Given the description of an element on the screen output the (x, y) to click on. 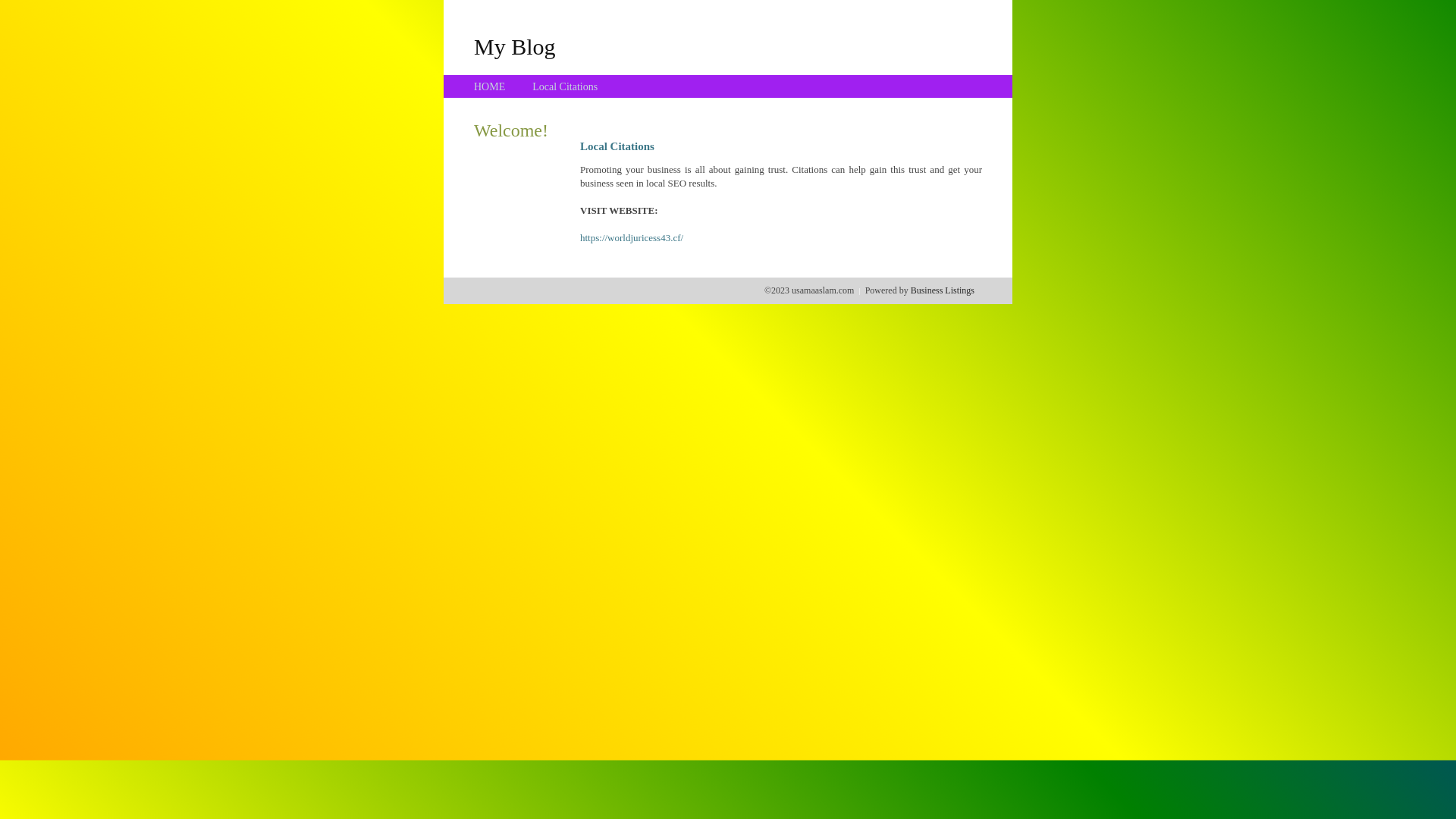
My Blog Element type: text (514, 46)
Business Listings Element type: text (942, 290)
https://worldjuricess43.cf/ Element type: text (631, 237)
Local Citations Element type: text (564, 86)
HOME Element type: text (489, 86)
